Given the description of an element on the screen output the (x, y) to click on. 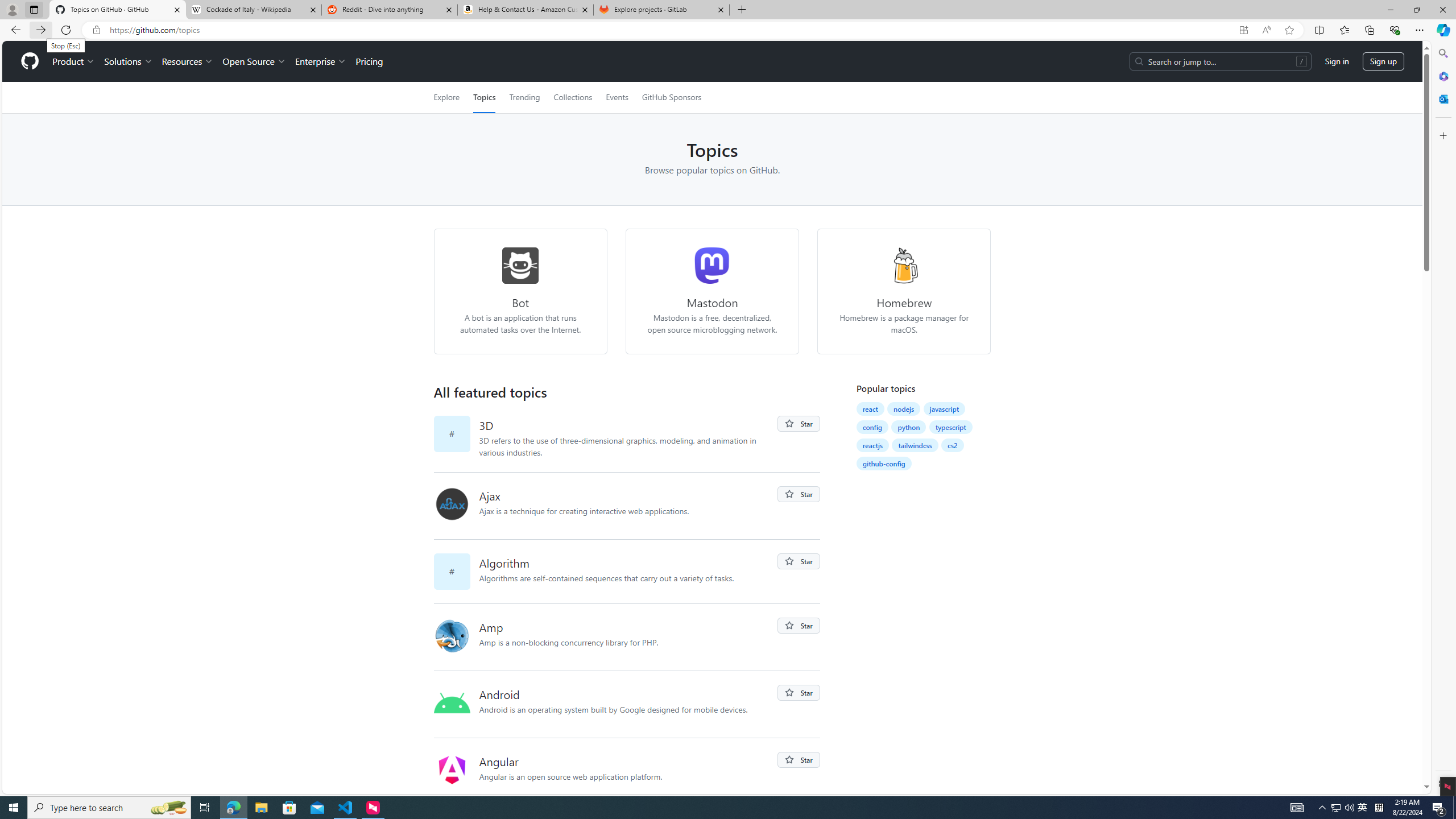
android (456, 703)
android (451, 702)
tailwindcss (915, 445)
github-config (884, 463)
javascript (944, 409)
Open Source (254, 60)
react (870, 408)
Pricing (368, 60)
Reddit - Dive into anything (390, 9)
ajax (451, 504)
